Given the description of an element on the screen output the (x, y) to click on. 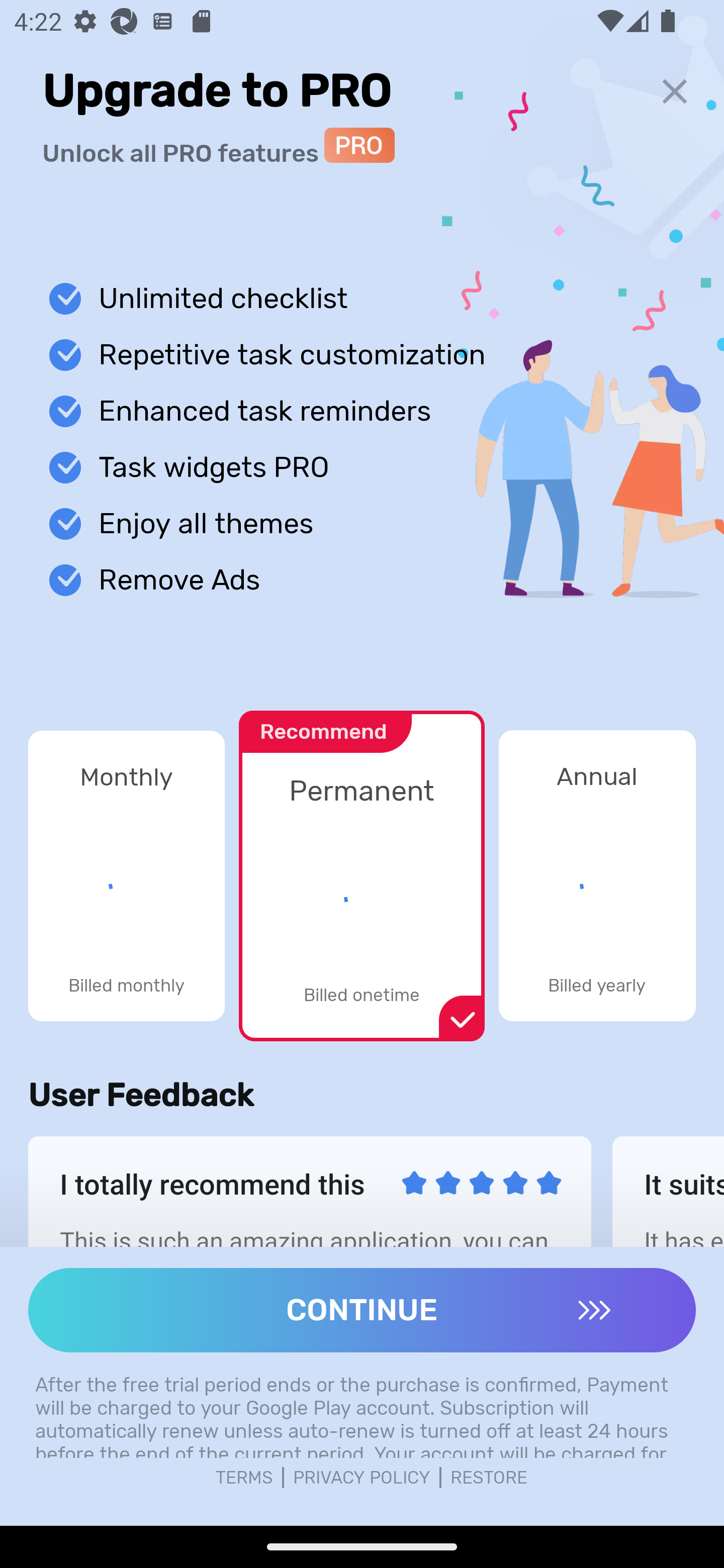
Recommend Permanent Billed onetime (361, 865)
Annual Billed yearly (596, 875)
Monthly Billed monthly (126, 875)
CONTINUE (361, 1309)
RESTORE (489, 1477)
